Given the description of an element on the screen output the (x, y) to click on. 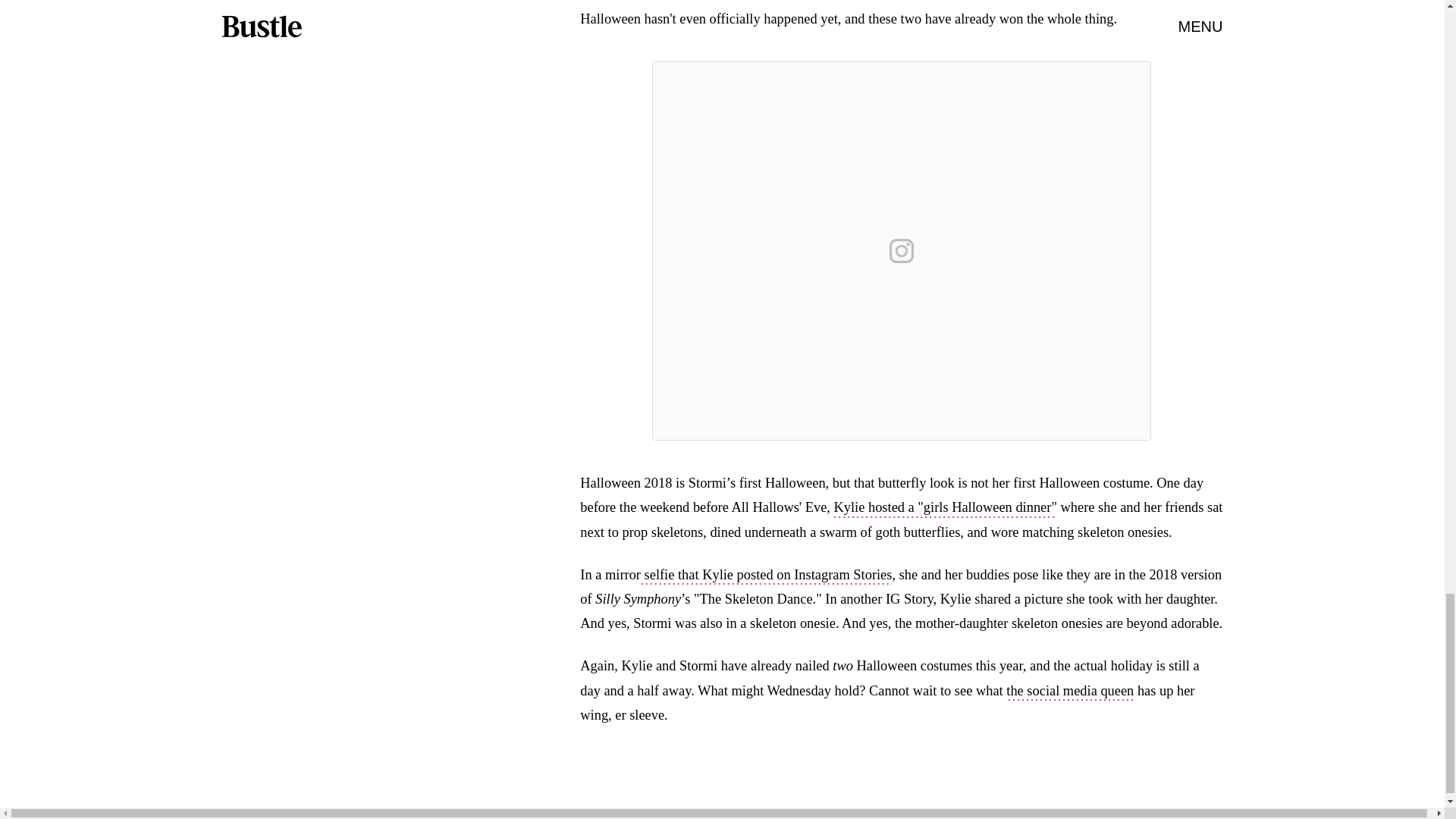
the social media queen (1070, 692)
selfie that Kylie posted on Instagram Stories (765, 576)
View on Instagram (901, 250)
Kylie hosted a "girls Halloween dinner" (945, 508)
